Given the description of an element on the screen output the (x, y) to click on. 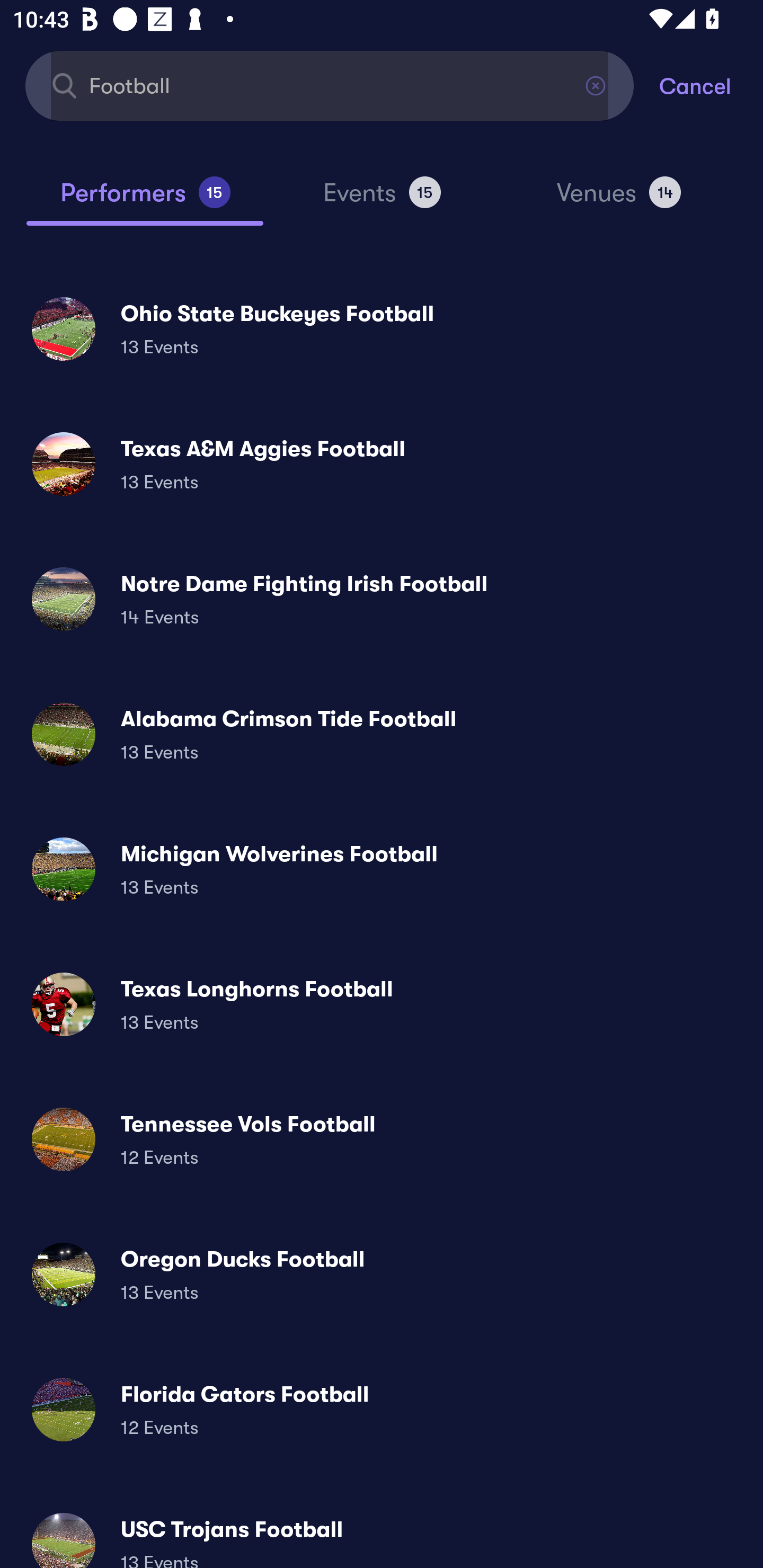
Football Find (329, 85)
Football Find (329, 85)
Cancel (711, 85)
Performers 15 (144, 200)
Events 15 (381, 200)
Venues 14 (618, 200)
Ohio State Buckeyes Football 13 Events (381, 328)
Texas A&M Aggies Football 13 Events (381, 464)
Notre Dame Fighting Irish Football 14 Events (381, 598)
Alabama Crimson Tide Football 13 Events (381, 734)
Michigan Wolverines Football 13 Events (381, 869)
Texas Longhorns Football 13 Events (381, 1004)
Tennessee Vols Football 12 Events (381, 1138)
Oregon Ducks Football 13 Events (381, 1273)
Florida Gators Football 12 Events (381, 1409)
USC Trojans Football 13 Events (381, 1532)
